Given the description of an element on the screen output the (x, y) to click on. 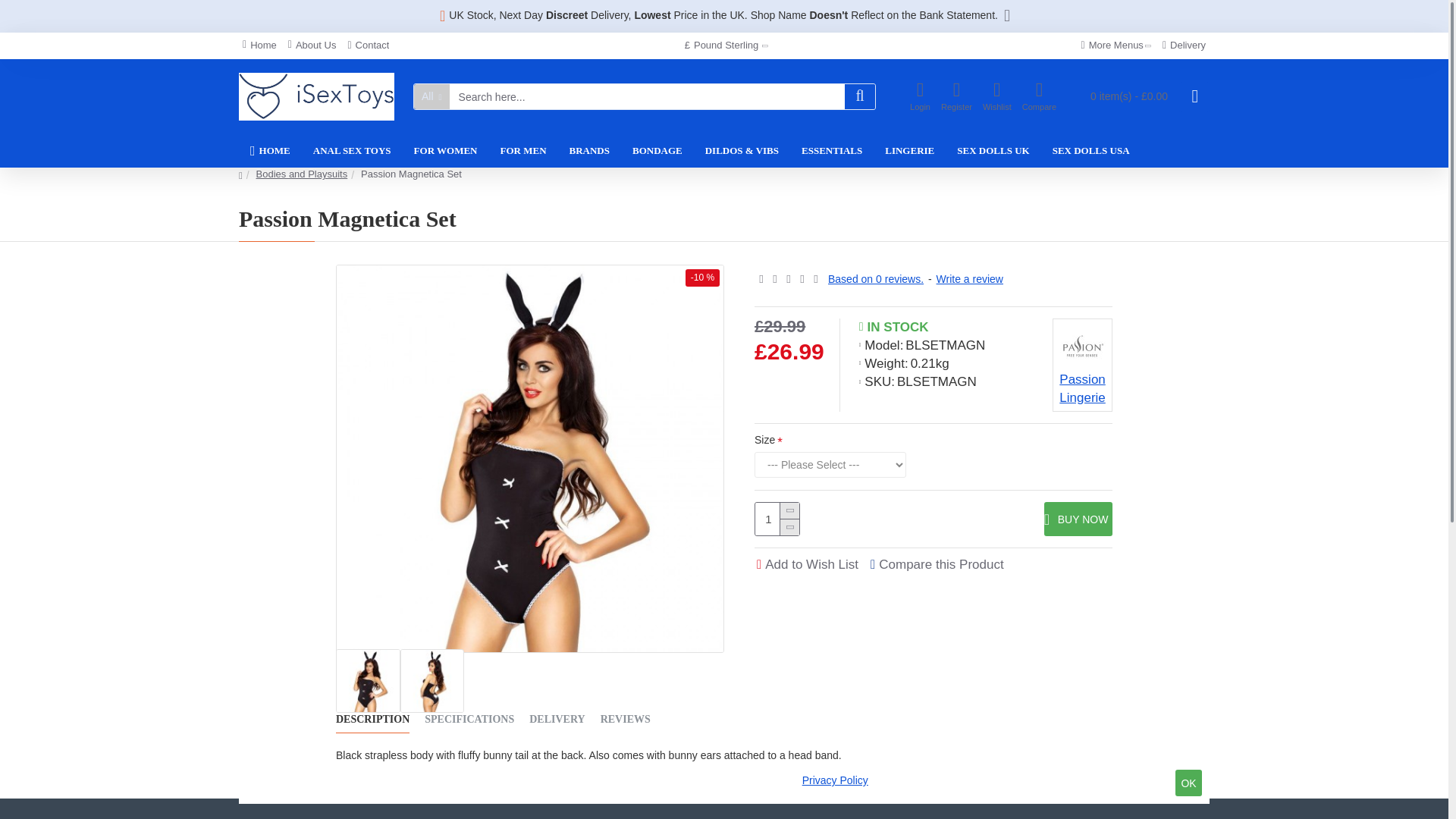
More Menus (1115, 45)
Contact (368, 45)
Home (259, 45)
Delivery (1183, 45)
Passion Magnetica Set (432, 681)
1 (777, 518)
Passion Magnetica Set (368, 681)
iSextoys (316, 96)
About Us (311, 45)
